Given the description of an element on the screen output the (x, y) to click on. 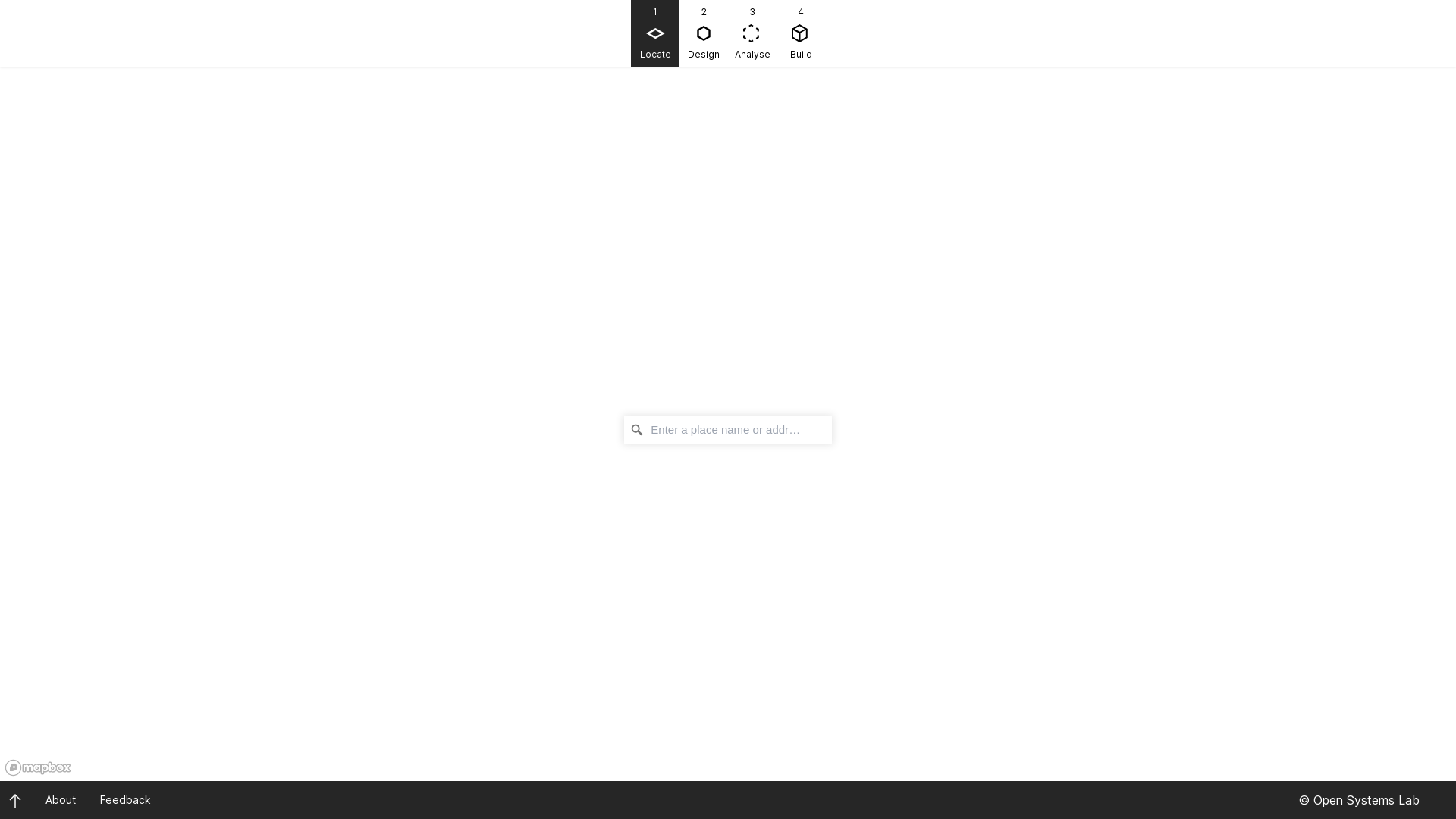
2
Design Element type: text (703, 33)
or find it on the map Element type: text (791, 457)
Feedback Element type: text (125, 799)
1
Locate Element type: text (654, 33)
3
Analyse Element type: text (752, 33)
4
Build Element type: text (800, 33)
About Element type: text (60, 799)
